Given the description of an element on the screen output the (x, y) to click on. 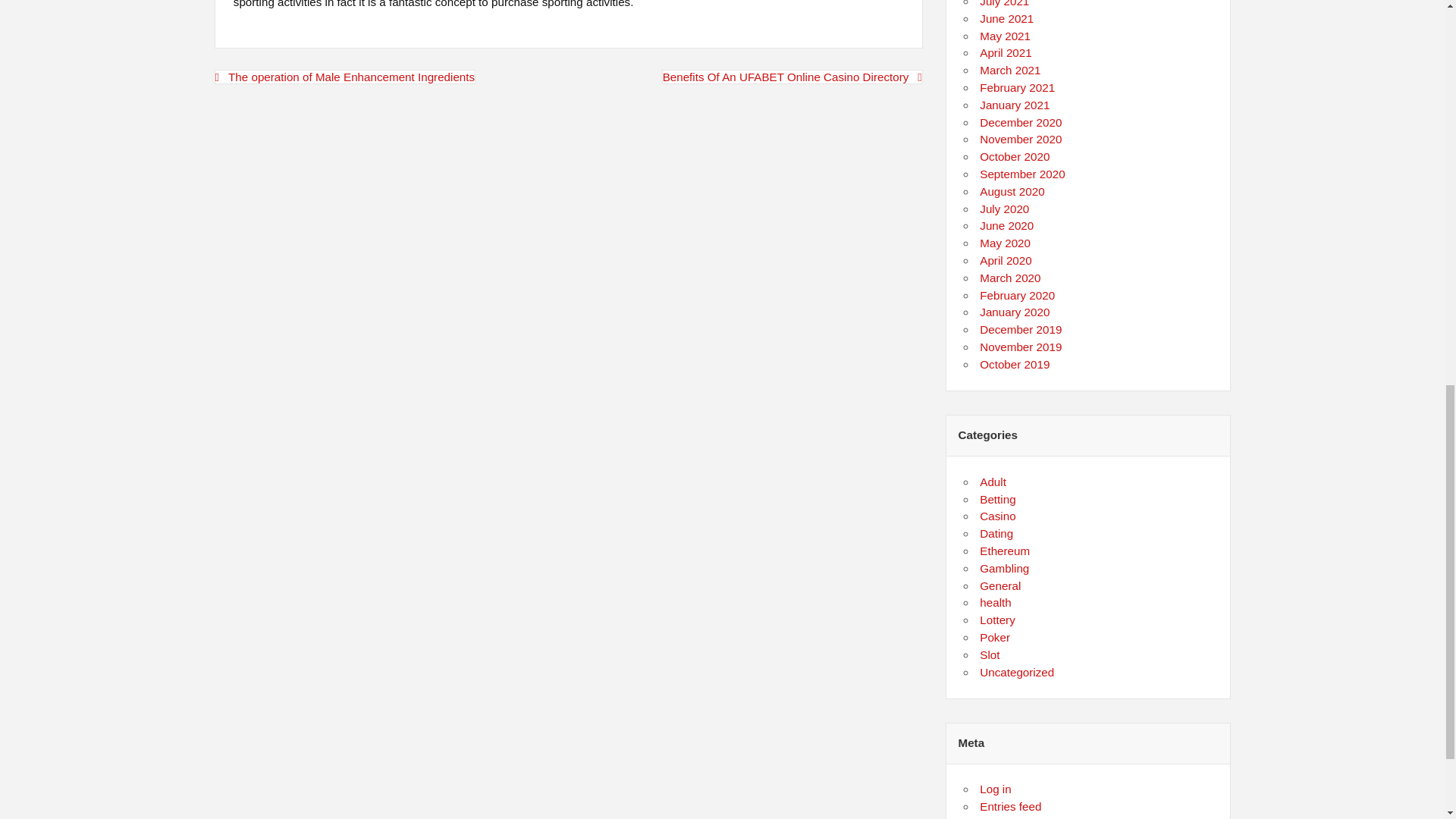
The operation of Male Enhancement Ingredients (345, 76)
Benefits Of An UFABET Online Casino Directory (792, 76)
